Given the description of an element on the screen output the (x, y) to click on. 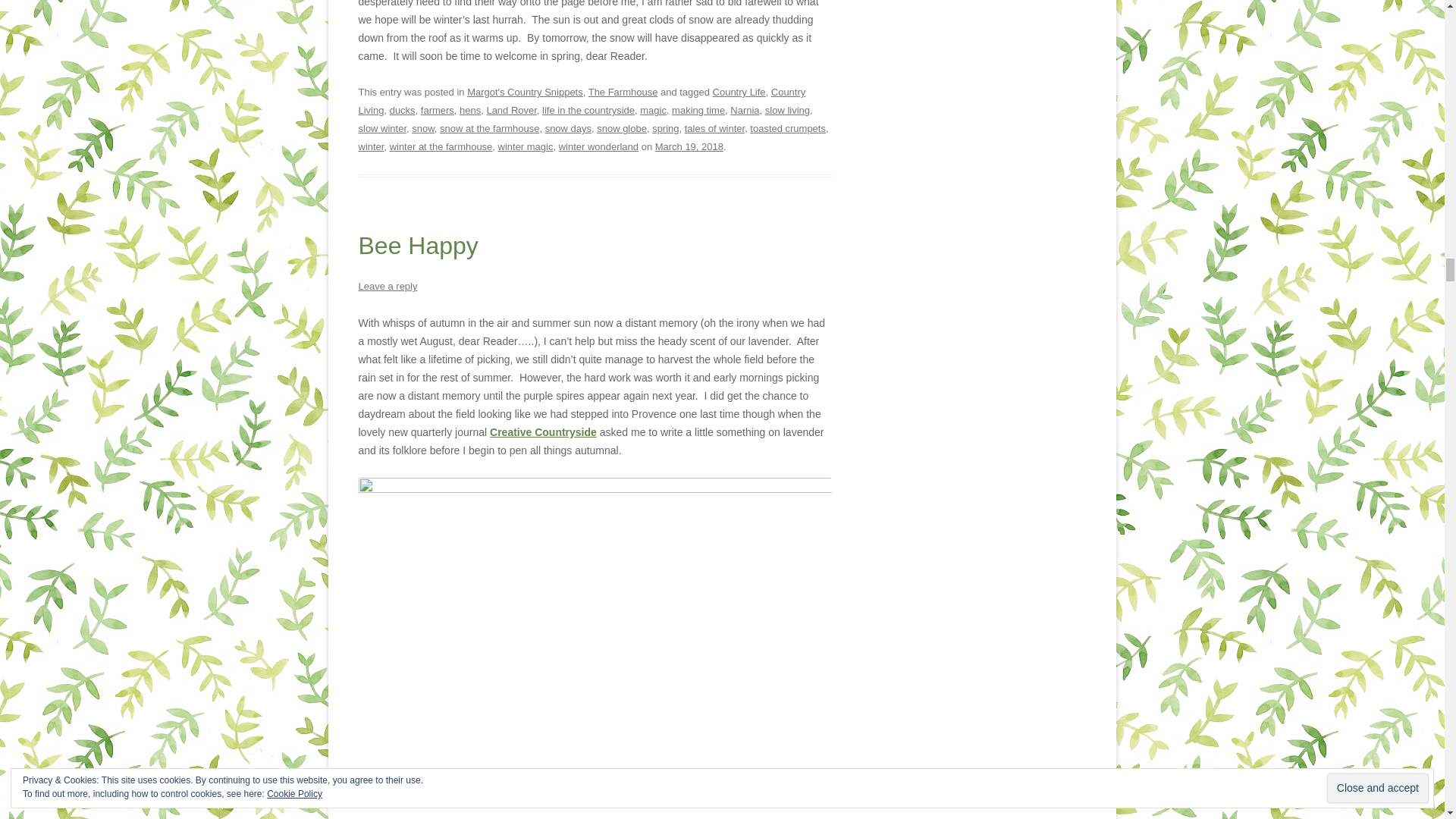
2:42 pm (689, 146)
